Given the description of an element on the screen output the (x, y) to click on. 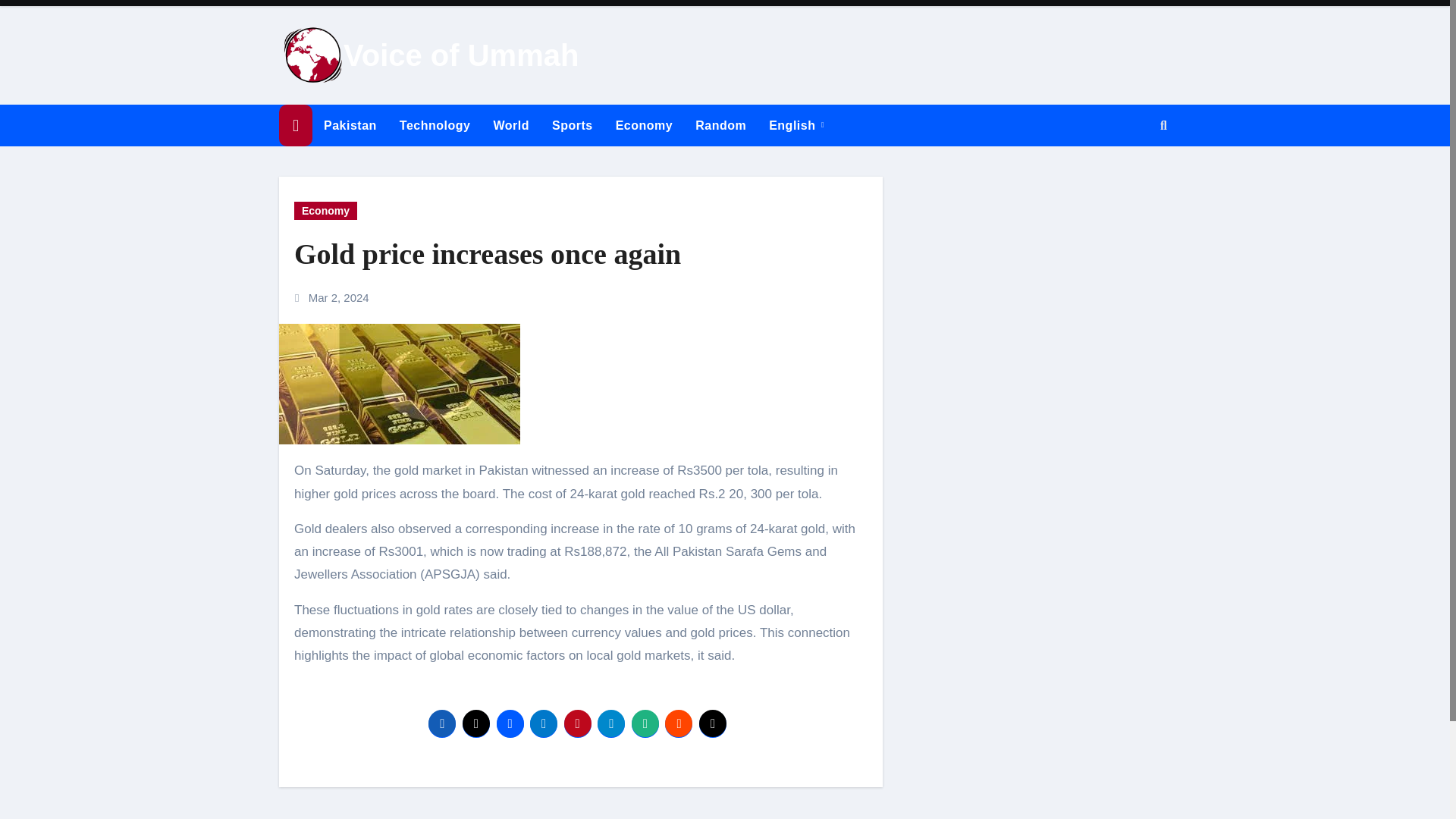
Economy (644, 125)
World (510, 125)
Technology (434, 125)
Random (720, 125)
Economy (325, 210)
Pakistan (350, 125)
Technology (434, 125)
Sports (572, 125)
Pakistan (350, 125)
English (796, 125)
Sports (572, 125)
Economy (644, 125)
English (796, 125)
Random (720, 125)
Voice of Ummah (460, 55)
